Given the description of an element on the screen output the (x, y) to click on. 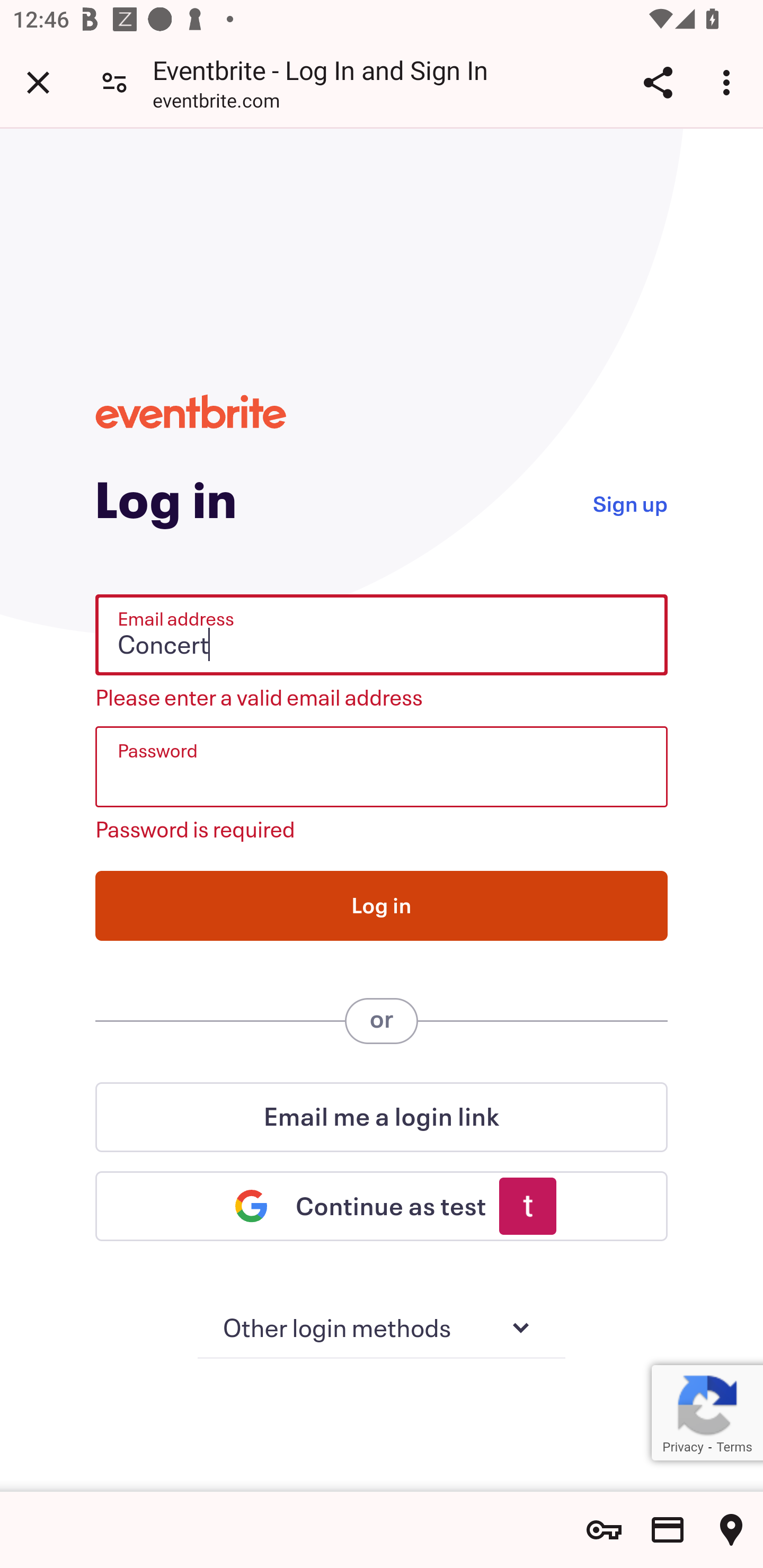
Close tab (38, 82)
Share (657, 82)
Customize and control Google Chrome (729, 82)
Connection is secure (114, 81)
eventbrite.com (216, 103)
www.eventbrite (190, 411)
Sign up (629, 502)
Concert (381, 634)
Log in (381, 905)
Email me a login link (381, 1116)
Other login methods Toggle Content (381, 1328)
Privacy (682, 1447)
Terms (734, 1447)
Show saved passwords and password options (603, 1530)
Show saved payment methods (667, 1530)
Show saved addresses (731, 1530)
